Given the description of an element on the screen output the (x, y) to click on. 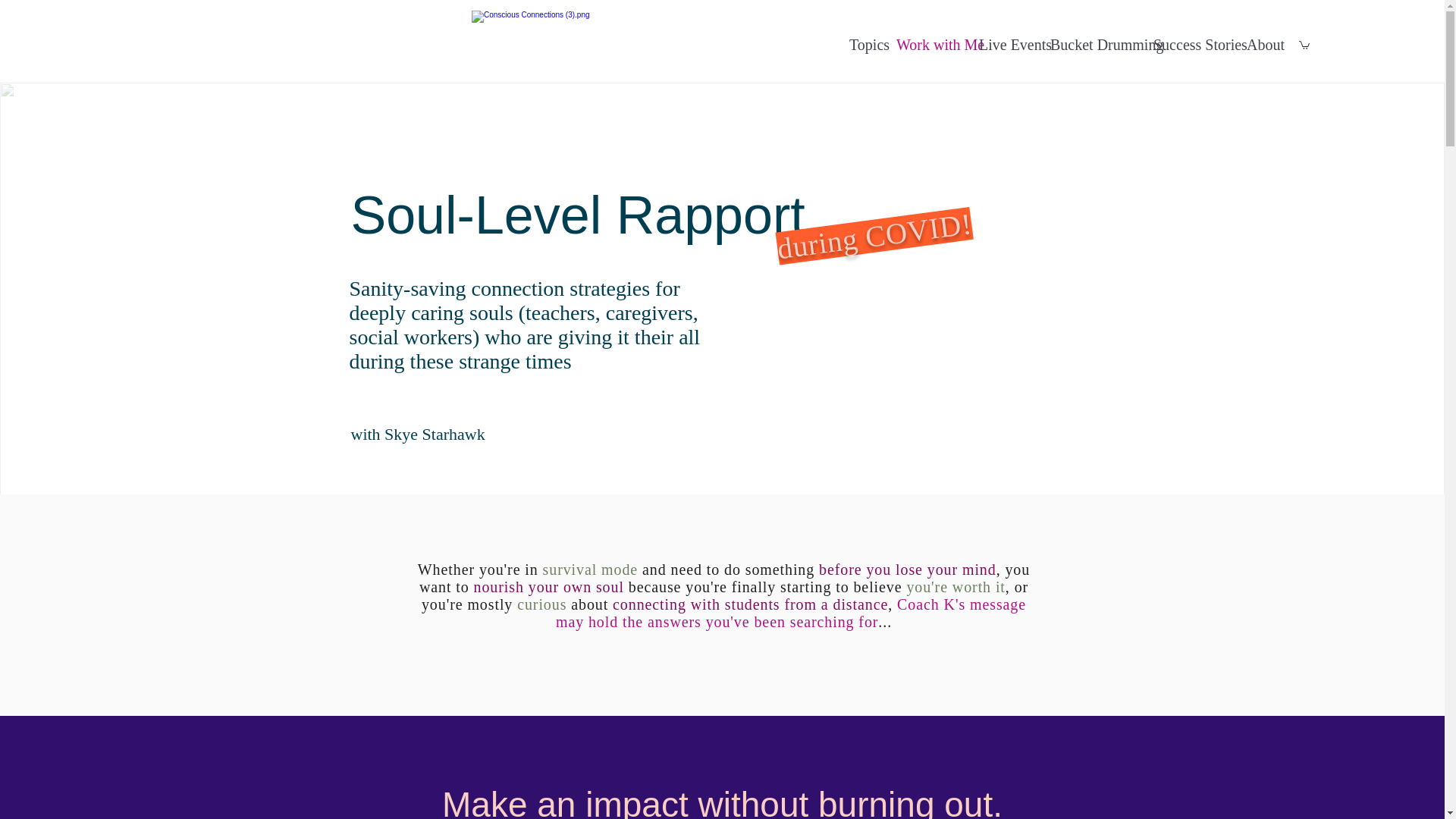
Live Events (1006, 44)
About (1261, 44)
Success Stories (1192, 44)
Bucket Drumming (1093, 44)
Topics (864, 44)
Work with Me (929, 44)
